Given the description of an element on the screen output the (x, y) to click on. 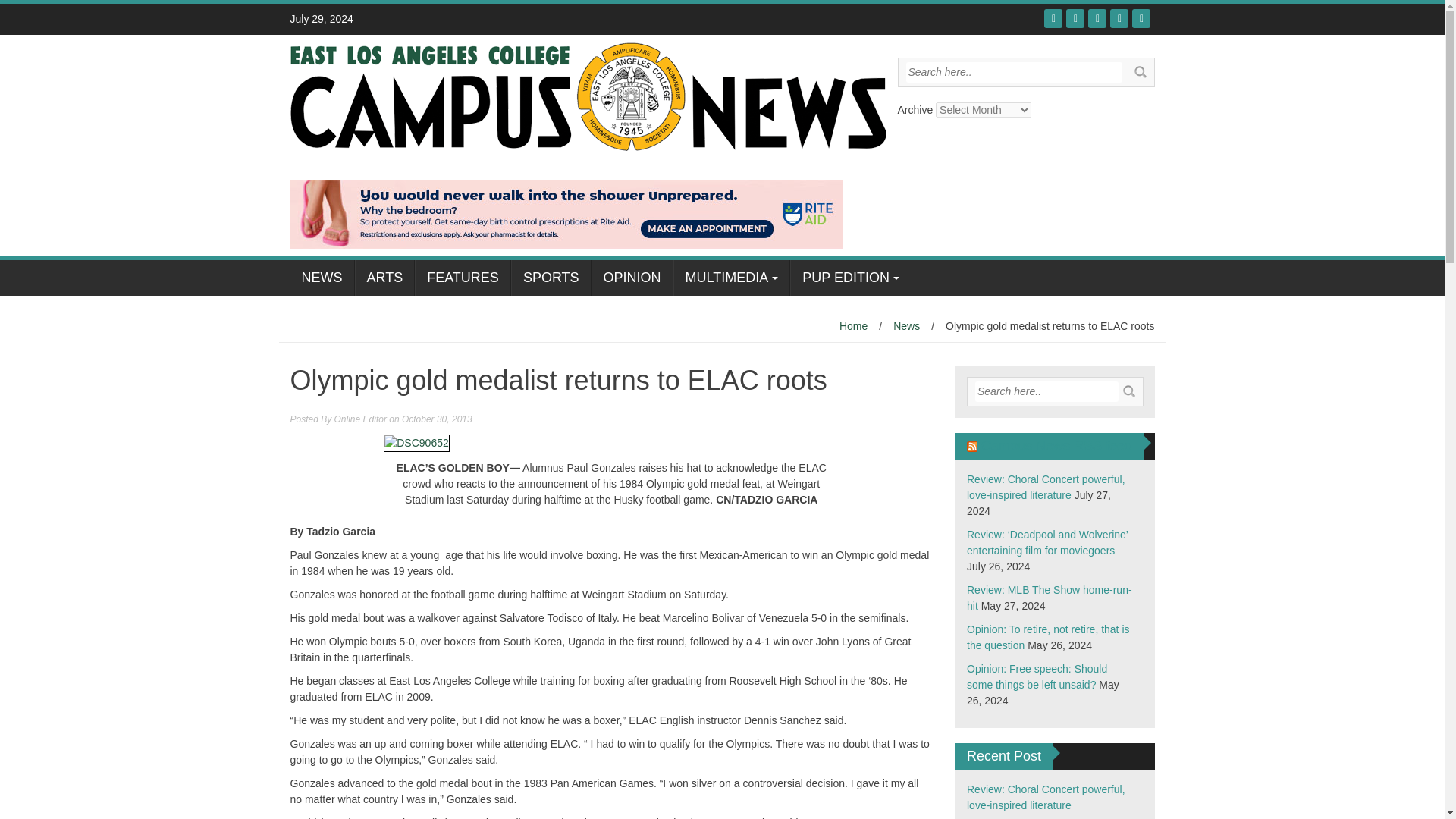
OPINION (631, 277)
Online Editor (360, 419)
ARTS (384, 277)
Home (853, 326)
NEWS (321, 277)
Email (1141, 18)
Youtube (1096, 18)
SPORTS (551, 277)
News (906, 326)
PUP EDITION (850, 277)
Campus News RSS feed (1056, 445)
Instagram (1118, 18)
Search here.. (1013, 72)
FEATURES (462, 277)
Search here.. (1046, 391)
